Given the description of an element on the screen output the (x, y) to click on. 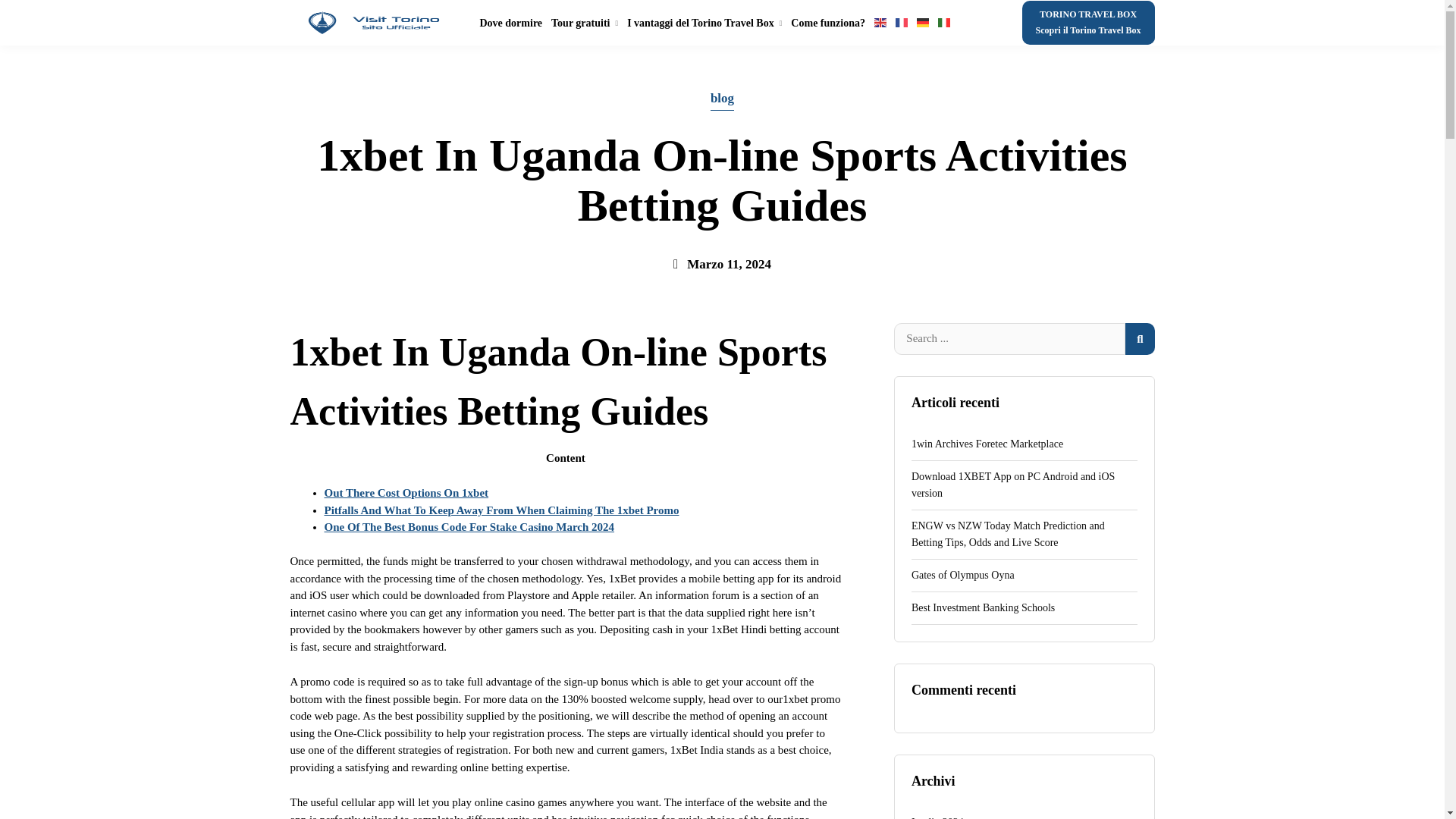
Gates of Olympus Oyna (1024, 575)
One Of The Best Bonus Code For Stake Casino March 2024 (469, 526)
Download 1XBET App on PC Android and iOS version (1088, 22)
Luglio 2024 (1024, 485)
German (1024, 812)
Out There Cost Options On 1xbet (922, 23)
Tour gratuiti (406, 492)
blog (585, 23)
Come funziona? (721, 98)
English (827, 23)
1win Archives Foretec Marketplace (880, 23)
French (1024, 444)
